Given the description of an element on the screen output the (x, y) to click on. 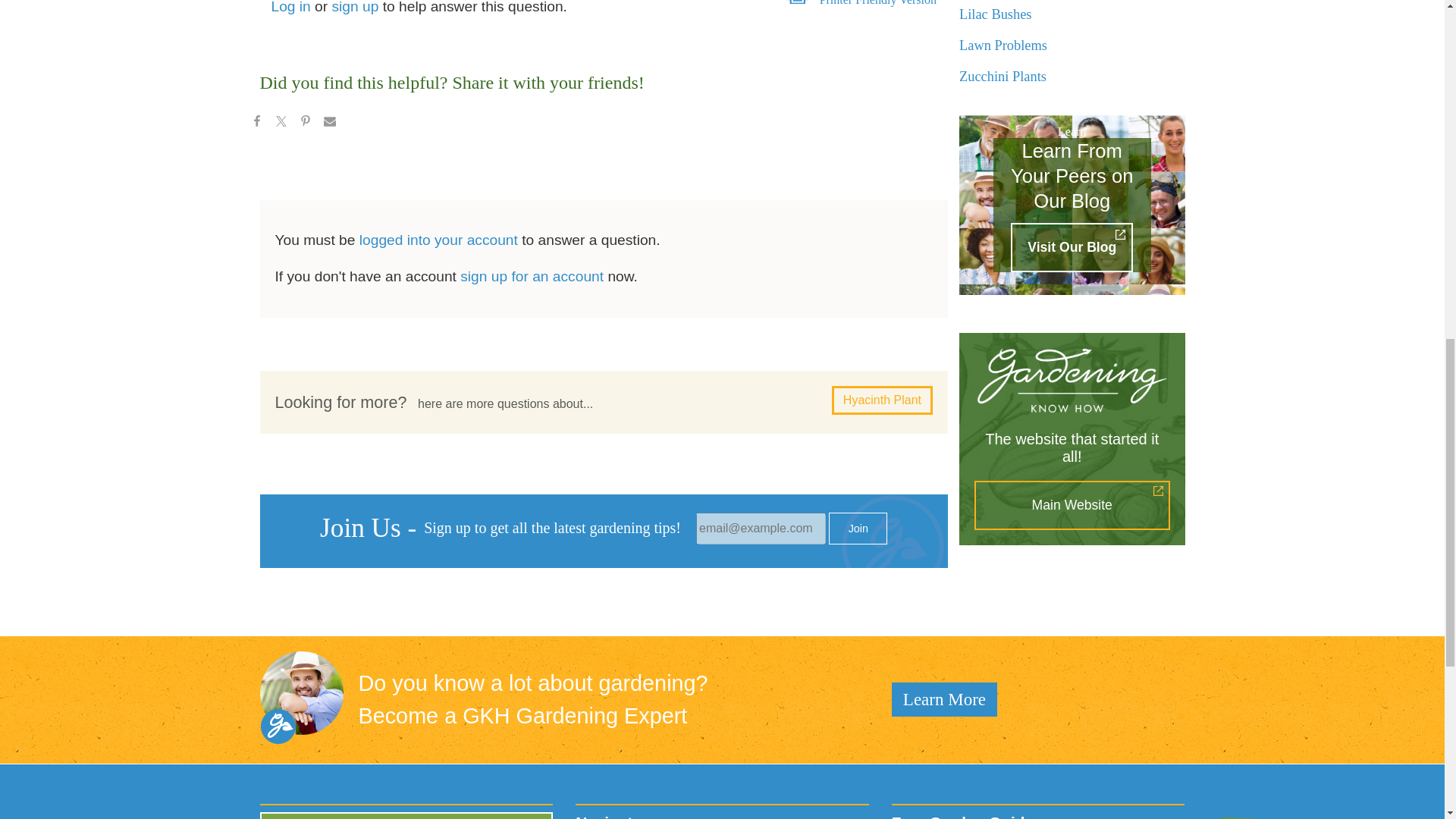
Share on Pinterest (304, 123)
Share on Facebook (255, 123)
logged into your account (438, 239)
Log in (290, 7)
Share via Email (328, 123)
Join (857, 528)
sign up for an account (532, 276)
sign up (354, 7)
Hyacinth Plant (882, 399)
Share on Twitter (279, 123)
Printer Friendly Version (877, 2)
Printer Friendly Version (877, 2)
